Given the description of an element on the screen output the (x, y) to click on. 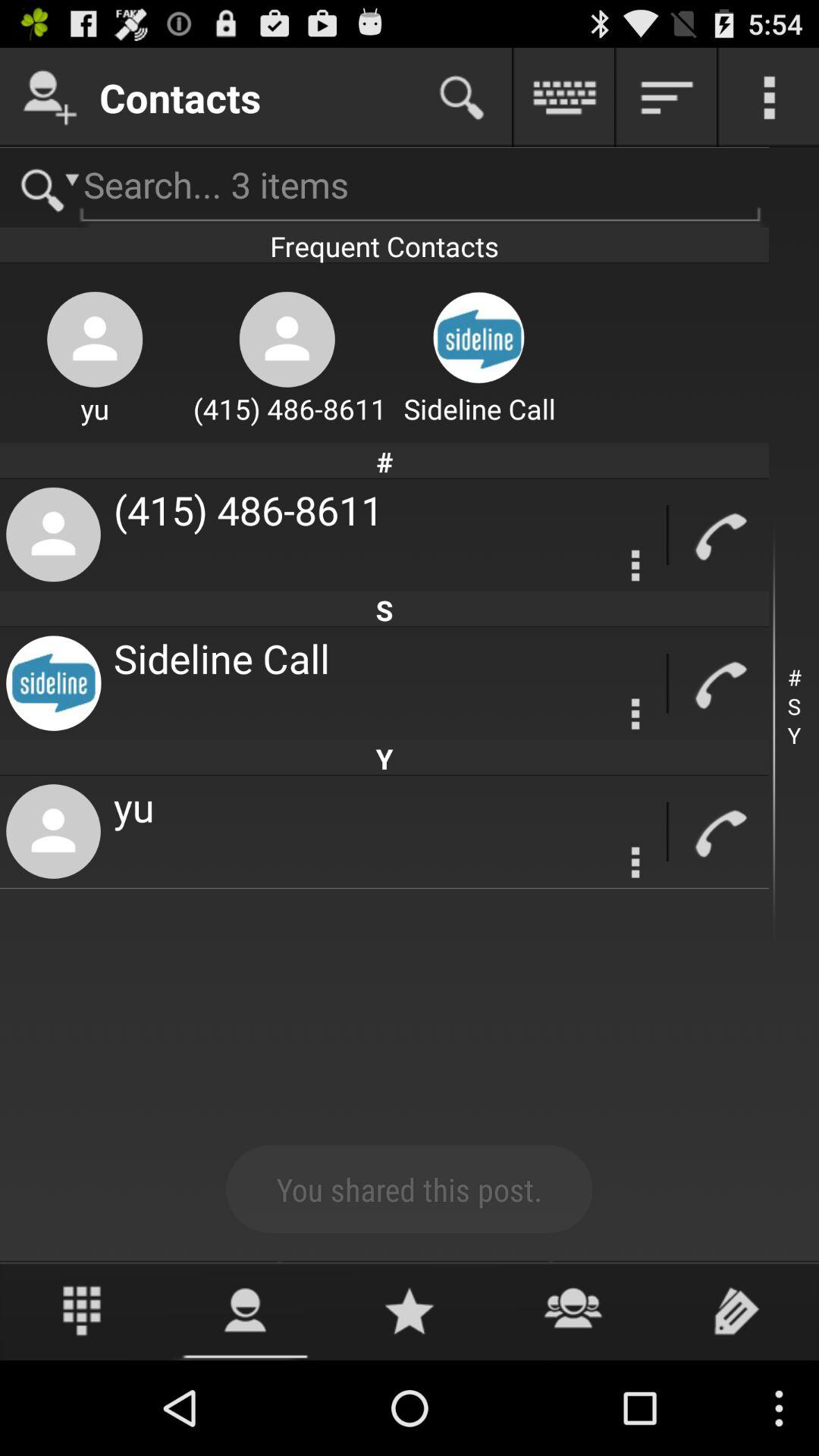
search contacts (461, 97)
